Given the description of an element on the screen output the (x, y) to click on. 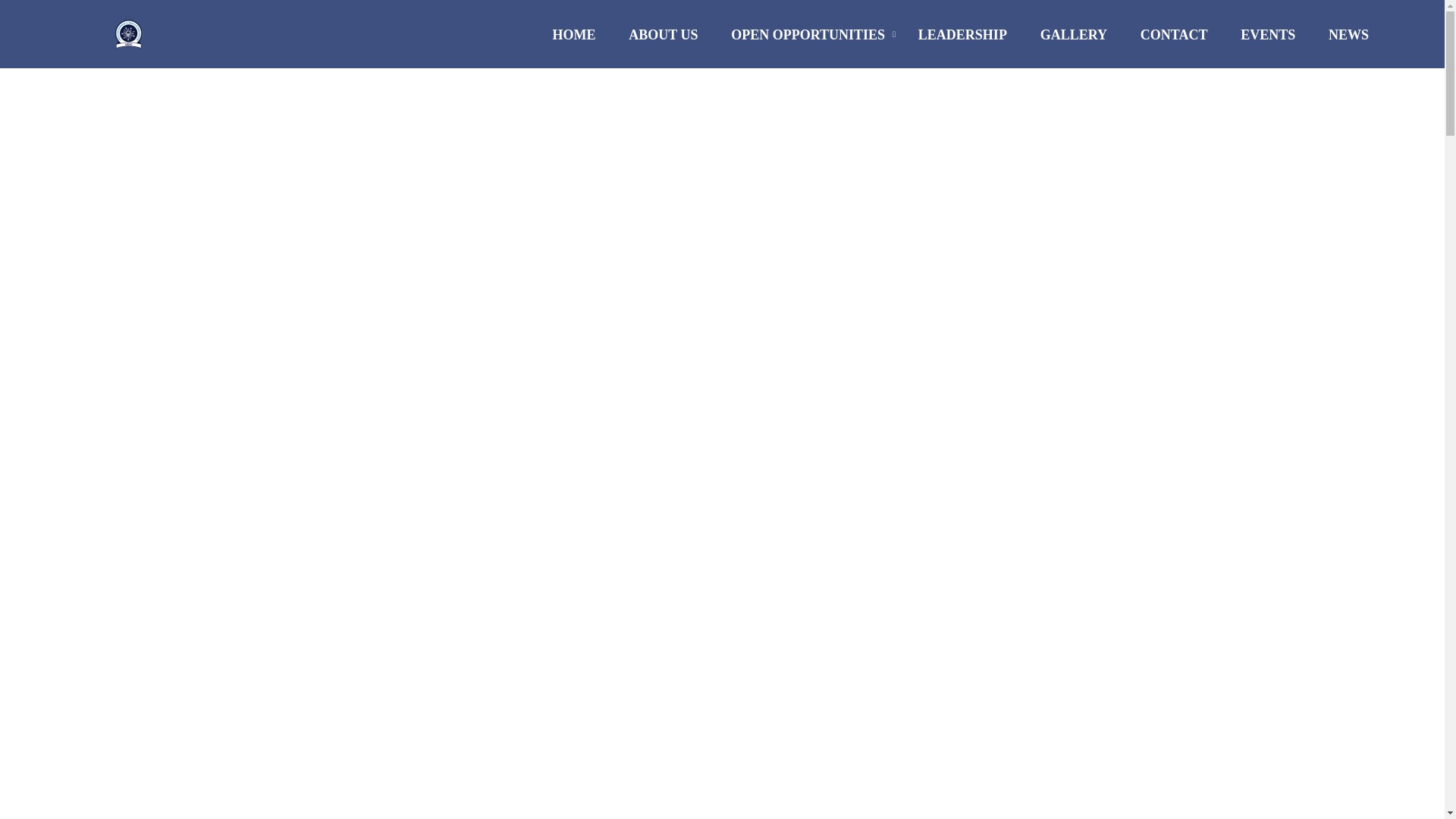
LEADERSHIP (962, 41)
CONTACT (1174, 41)
OPEN OPPORTUNITIES (807, 41)
NEWS (1340, 41)
EVENTS (1267, 41)
ABOUT US (662, 41)
GALLERY (1073, 41)
HOME (573, 41)
UEIC - Building business (133, 41)
